Given the description of an element on the screen output the (x, y) to click on. 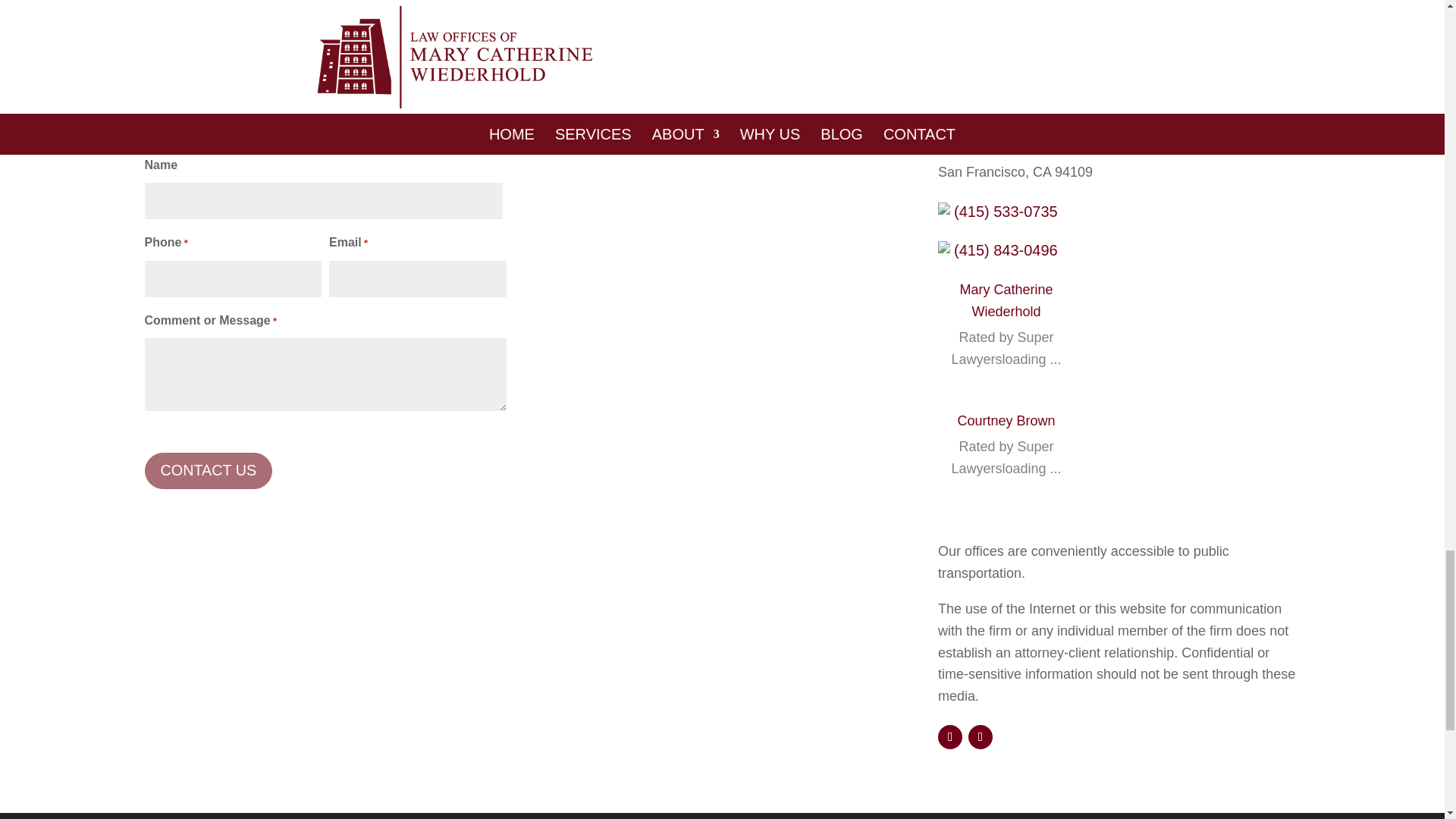
Mary Catherine Wiederhold (1005, 300)
Contact Us (208, 470)
Follow on Facebook (949, 736)
Contact Us (208, 470)
Follow on LinkedIn (980, 736)
Courtney Brown (1005, 420)
